Given the description of an element on the screen output the (x, y) to click on. 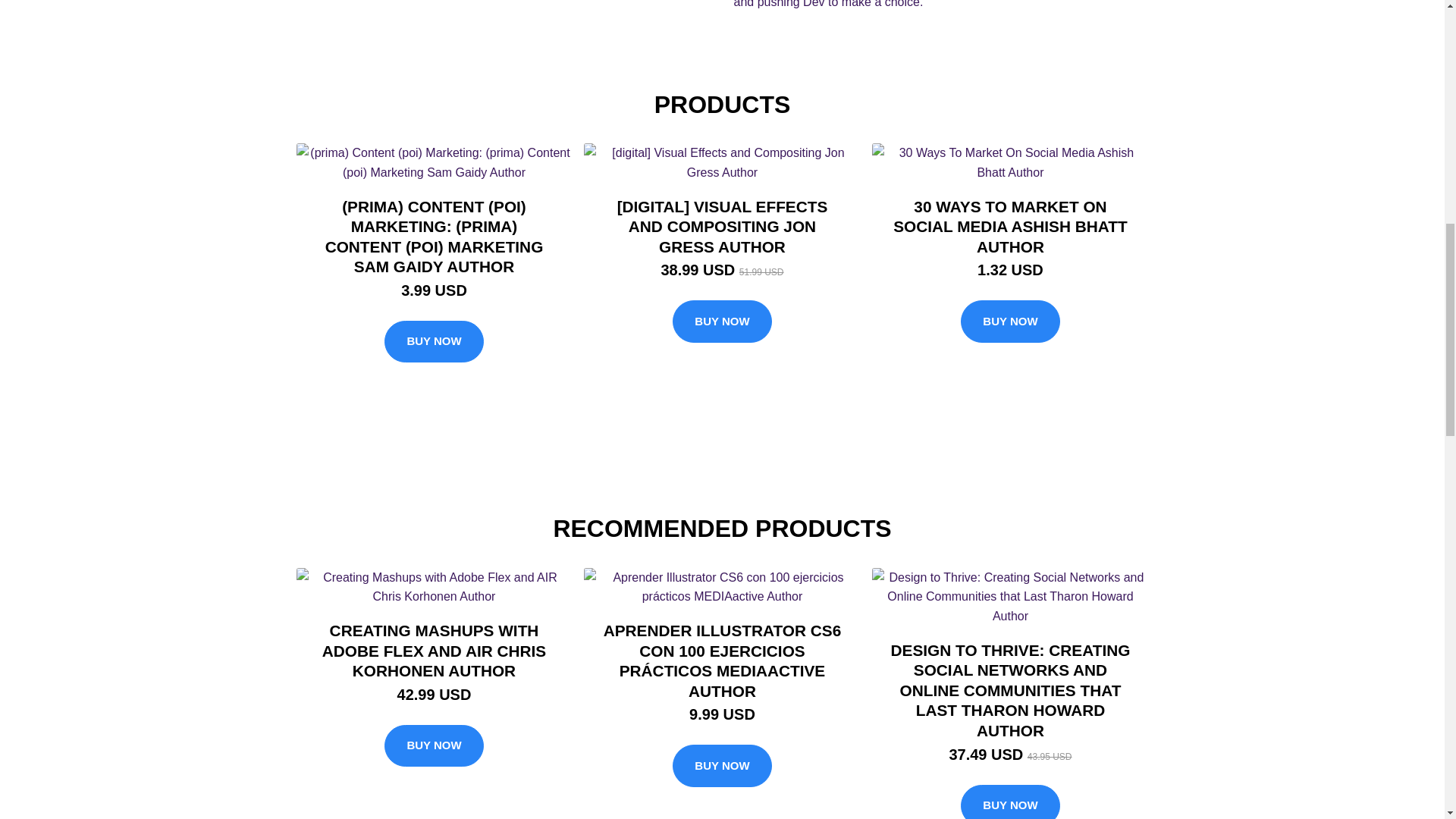
BUY NOW (721, 765)
BUY NOW (433, 342)
BUY NOW (1009, 801)
BUY NOW (433, 745)
BUY NOW (1009, 321)
30 WAYS TO MARKET ON SOCIAL MEDIA ASHISH BHATT AUTHOR (1009, 226)
BUY NOW (721, 321)
